Given the description of an element on the screen output the (x, y) to click on. 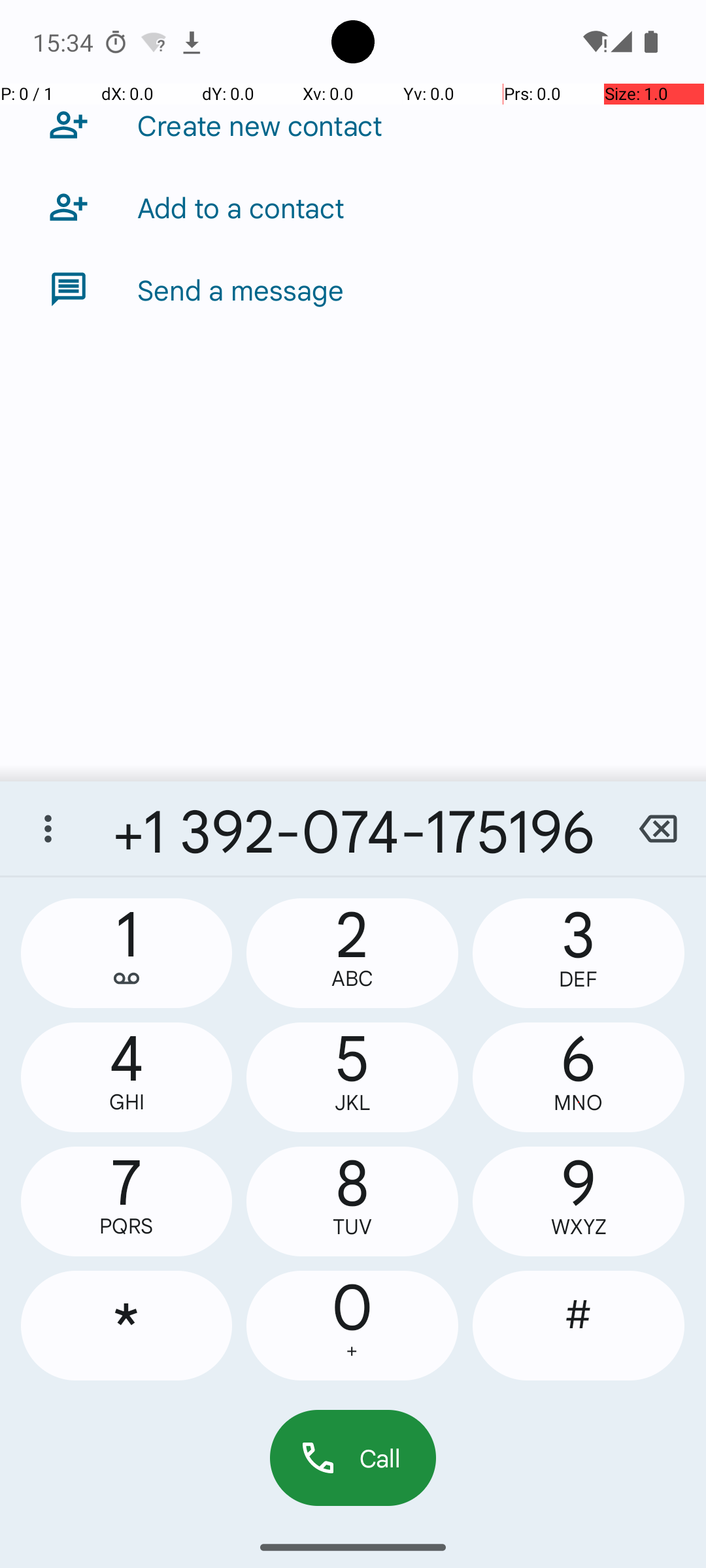
+1 392-074-175196 Element type: android.widget.EditText (352, 828)
